Given the description of an element on the screen output the (x, y) to click on. 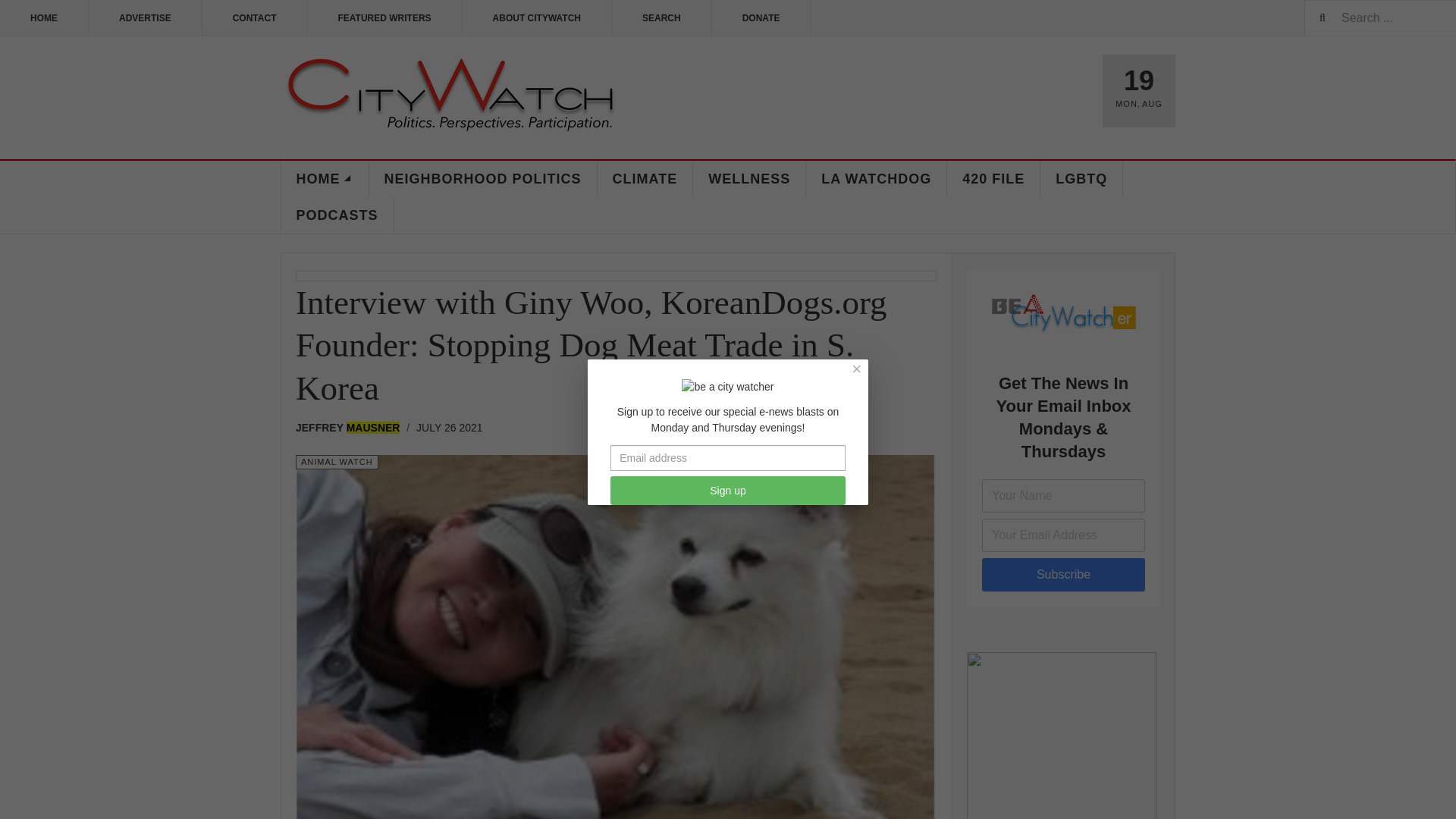
CLIMATE (645, 178)
FEATURED WRITERS (384, 18)
ADVERTISE (145, 18)
PODCASTS (337, 215)
Category:  (336, 462)
LA WATCHDOG (876, 178)
ABOUT CITYWATCH (537, 18)
WELLNESS (749, 178)
HOME (324, 178)
SEARCH (661, 18)
